Given the description of an element on the screen output the (x, y) to click on. 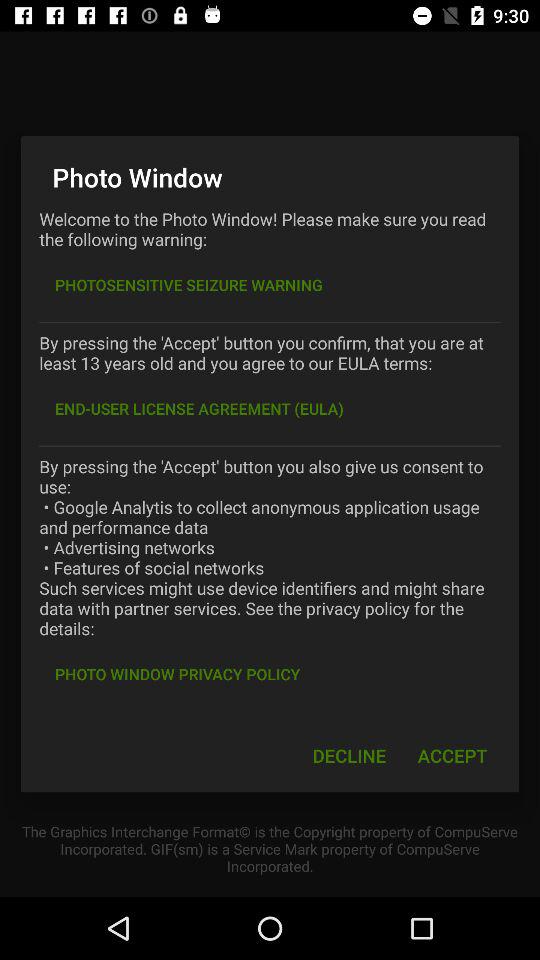
tap icon at the bottom (349, 755)
